Given the description of an element on the screen output the (x, y) to click on. 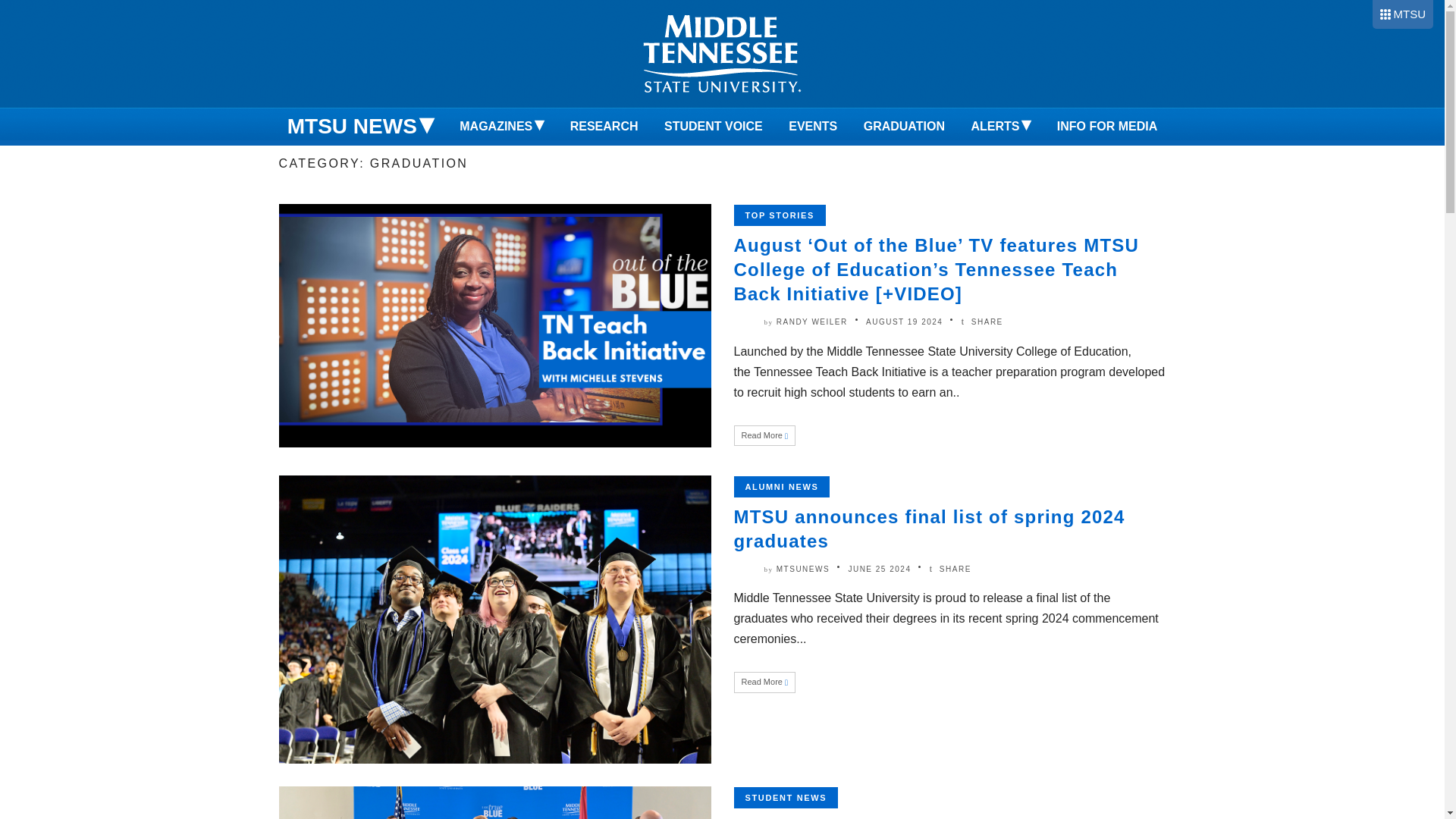
Posts by Randy Weiler (811, 321)
June 25, 2024 4:12 (879, 569)
August 19, 2024 7:15 (904, 321)
Posts by mtsunews (802, 569)
